Given the description of an element on the screen output the (x, y) to click on. 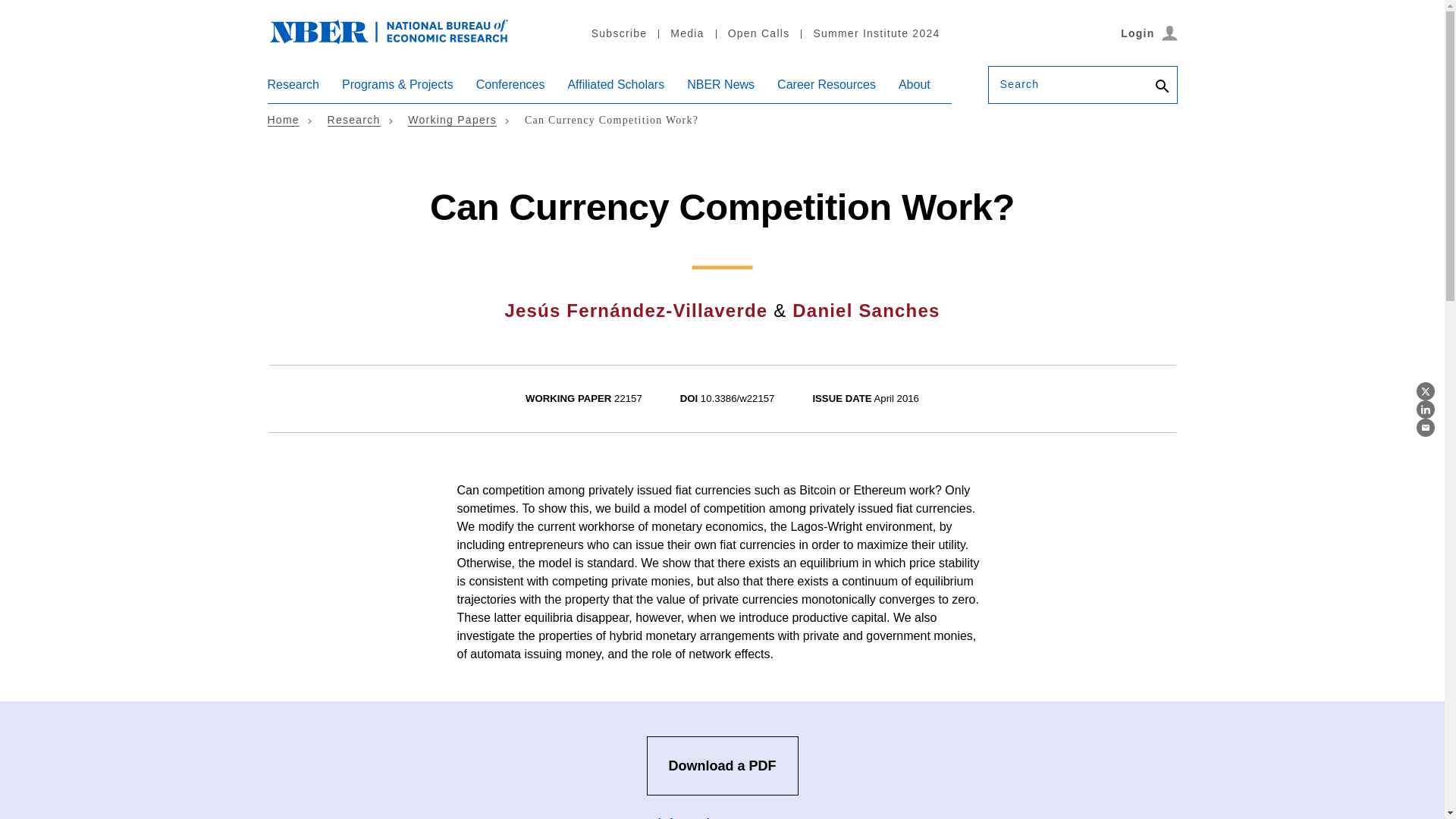
NBER: National Bureau of Economic Research (400, 39)
Twitter (1425, 391)
Open Calls (759, 33)
Subscribe (619, 33)
LinkedIn (1425, 409)
Login (1148, 33)
Media (686, 33)
NBER: National Bureau of Economic Research (387, 31)
Summer Institute 2024 (875, 33)
Research (292, 90)
Email (1425, 427)
